Given the description of an element on the screen output the (x, y) to click on. 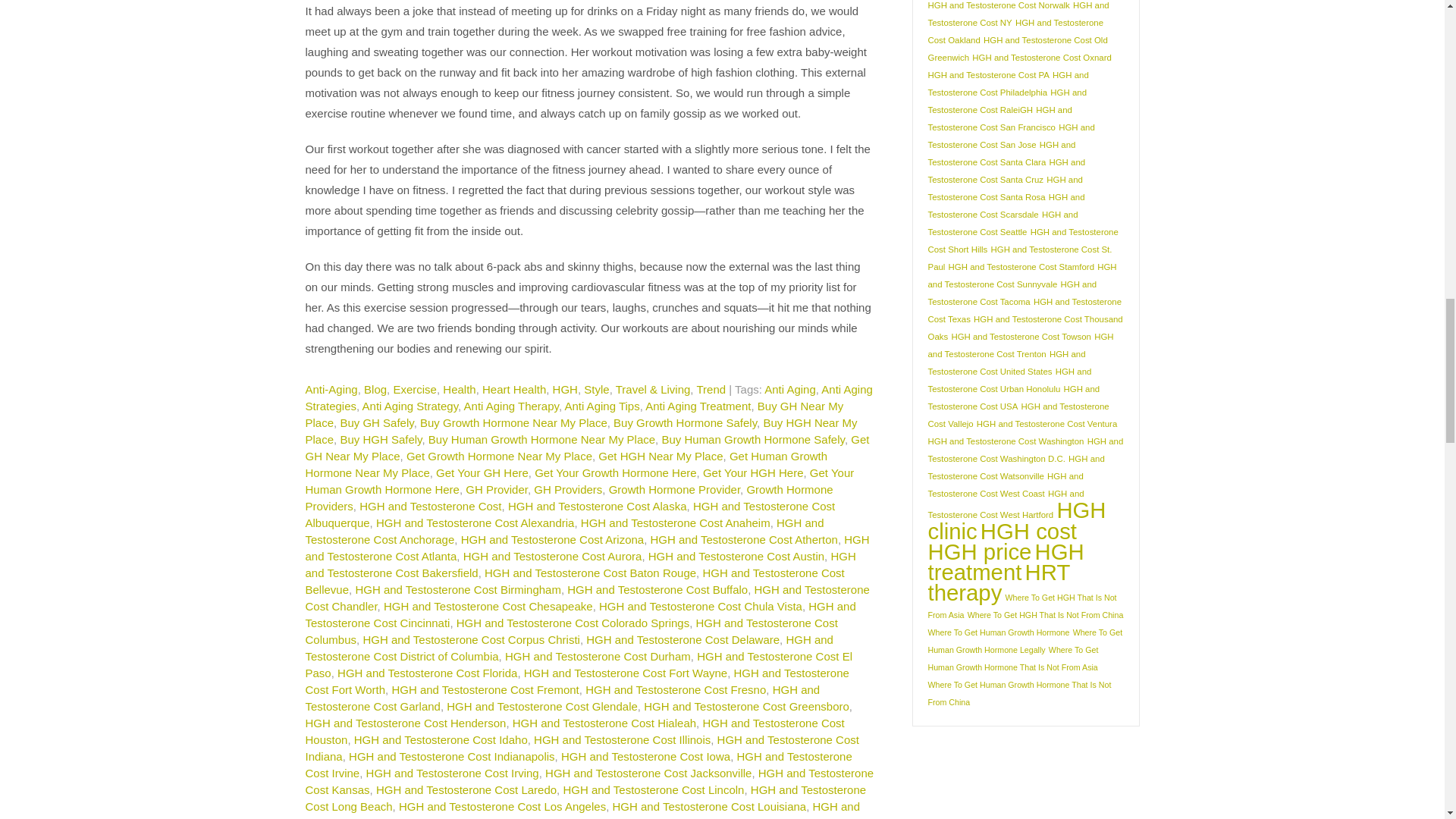
View all posts in Health (459, 389)
View all posts in HGH (565, 389)
View all posts in Anti-Aging (330, 389)
View all posts in Heart Health (513, 389)
View all posts in Style (595, 389)
View all posts in Blog (375, 389)
View all posts in Exercise (414, 389)
